Given the description of an element on the screen output the (x, y) to click on. 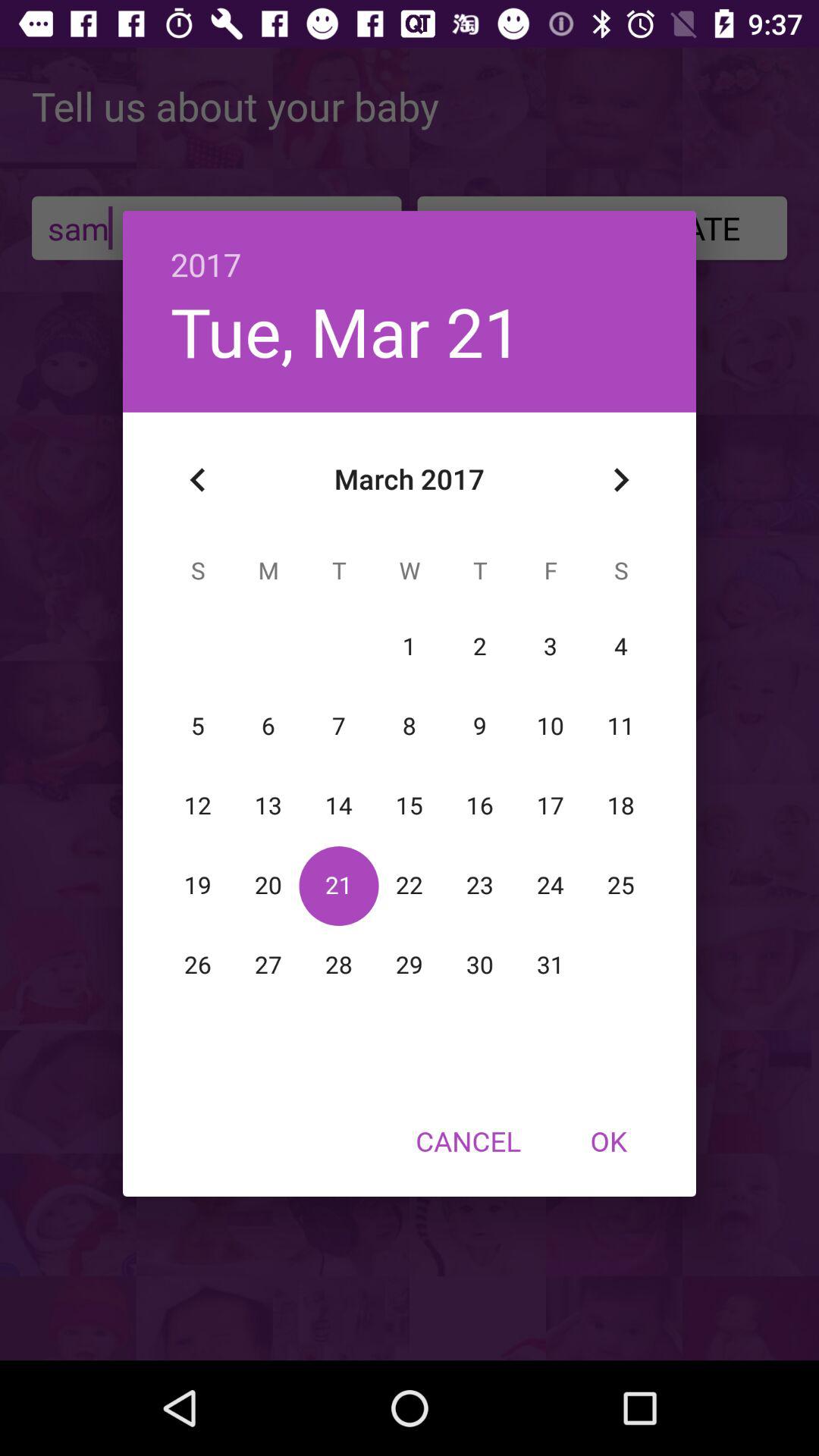
choose the icon below 2017 item (346, 331)
